Given the description of an element on the screen output the (x, y) to click on. 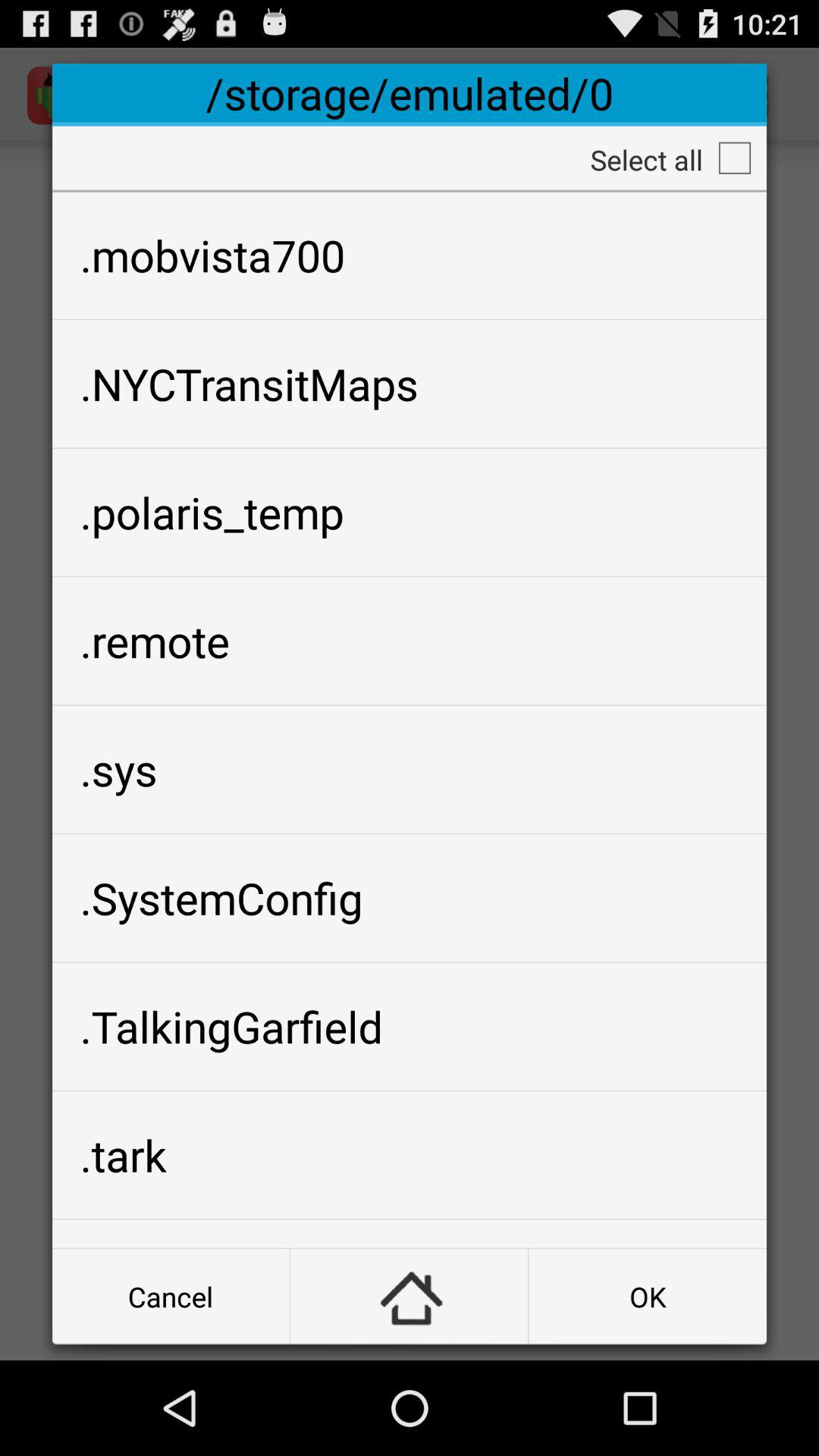
launch the icon above .sys item (409, 640)
